Given the description of an element on the screen output the (x, y) to click on. 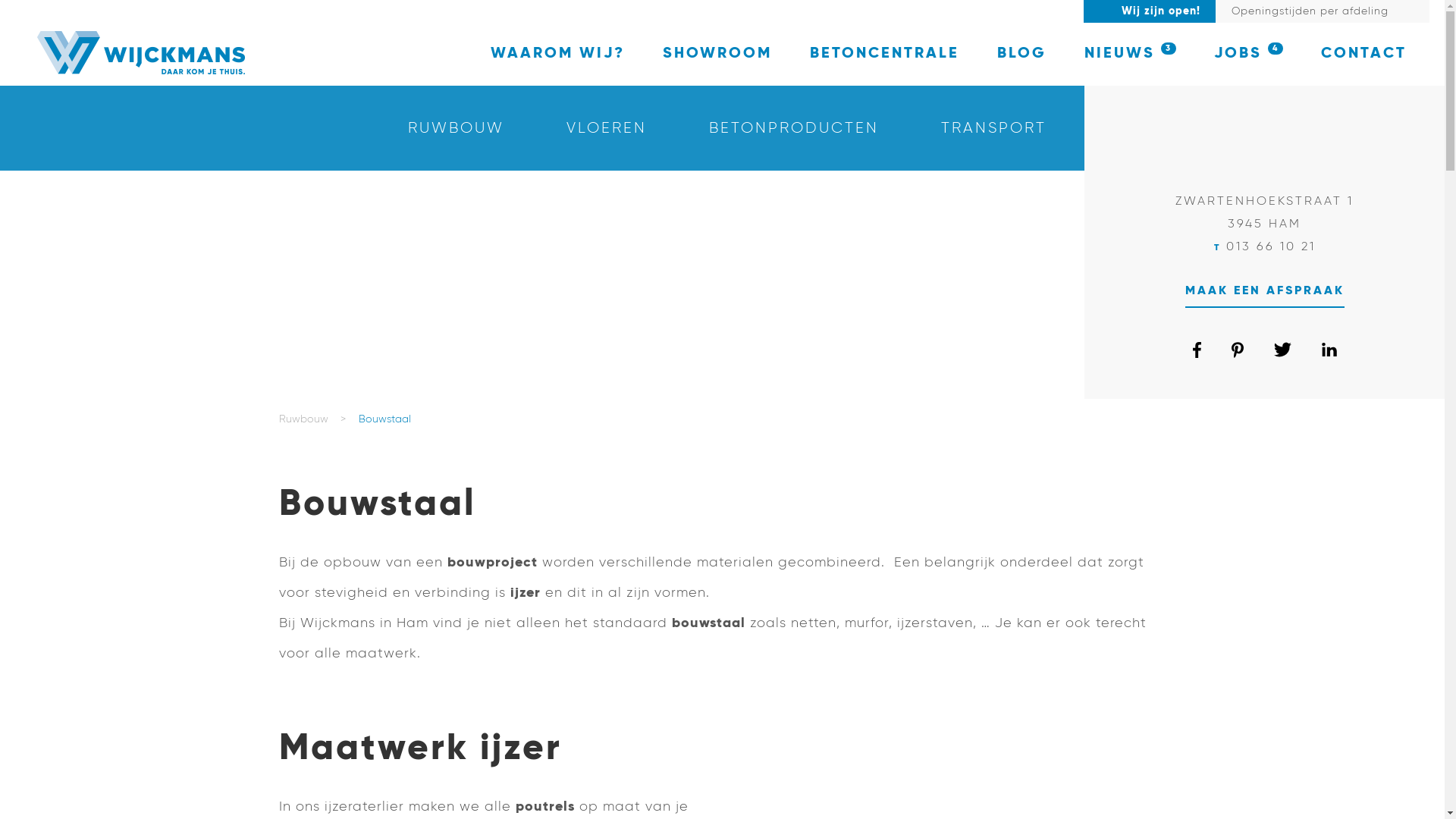
CONTACT Element type: text (1363, 53)
SHOWROOM Element type: text (716, 53)
linkedin Element type: hover (1328, 353)
JOBS 4 Element type: text (1248, 53)
Ruwbouw Element type: text (303, 419)
ZWARTENHOEKSTRAAT 1
3945 HAM Element type: text (1264, 212)
WAAROM WIJ? Element type: text (557, 53)
TRANSPORT Element type: text (993, 127)
BETONCENTRALE Element type: text (884, 53)
Bouwstaal Element type: text (383, 419)
RUWBOUW Element type: text (458, 127)
NIEUWS 3 Element type: text (1130, 53)
pinterest Element type: hover (1237, 354)
BLOG Element type: text (1021, 53)
013 66 10 21 Element type: text (1269, 247)
BETONPRODUCTEN Element type: text (796, 127)
Twitter Element type: hover (1282, 354)
facebook Element type: hover (1196, 354)
VLOEREN Element type: text (609, 127)
